Given the description of an element on the screen output the (x, y) to click on. 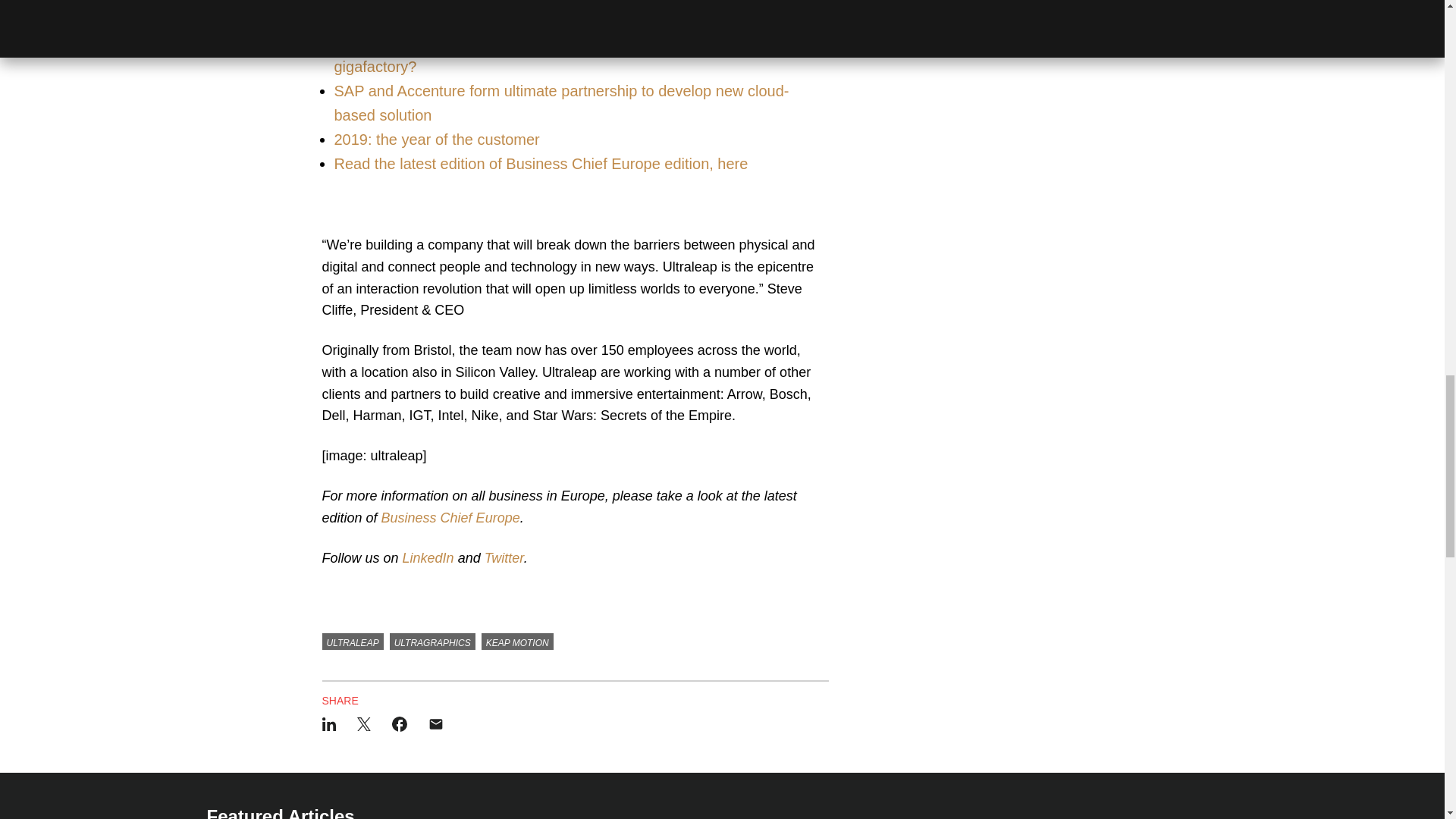
ULTRAGRAPHICS (433, 641)
Twitter (504, 557)
ULTRALEAP (351, 641)
KEAP MOTION (517, 641)
2019: the year of the customer (435, 139)
Business Chief Europe (450, 517)
LinkedIn (430, 557)
